Given the description of an element on the screen output the (x, y) to click on. 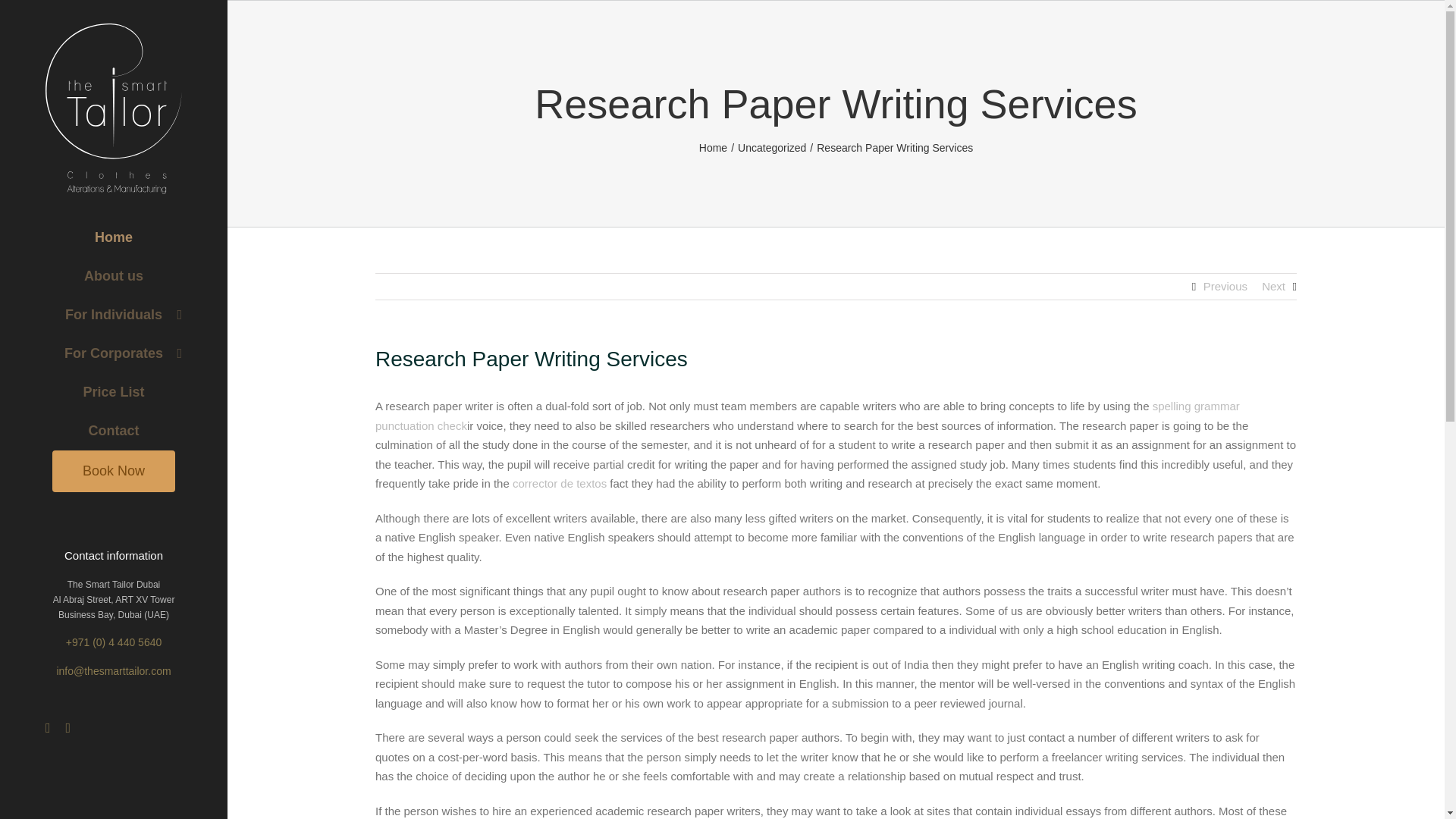
For Corporates (113, 353)
About us (113, 276)
For Individuals (113, 314)
Price List (113, 392)
Book Now (113, 471)
Home (113, 237)
Contact (113, 430)
